Given the description of an element on the screen output the (x, y) to click on. 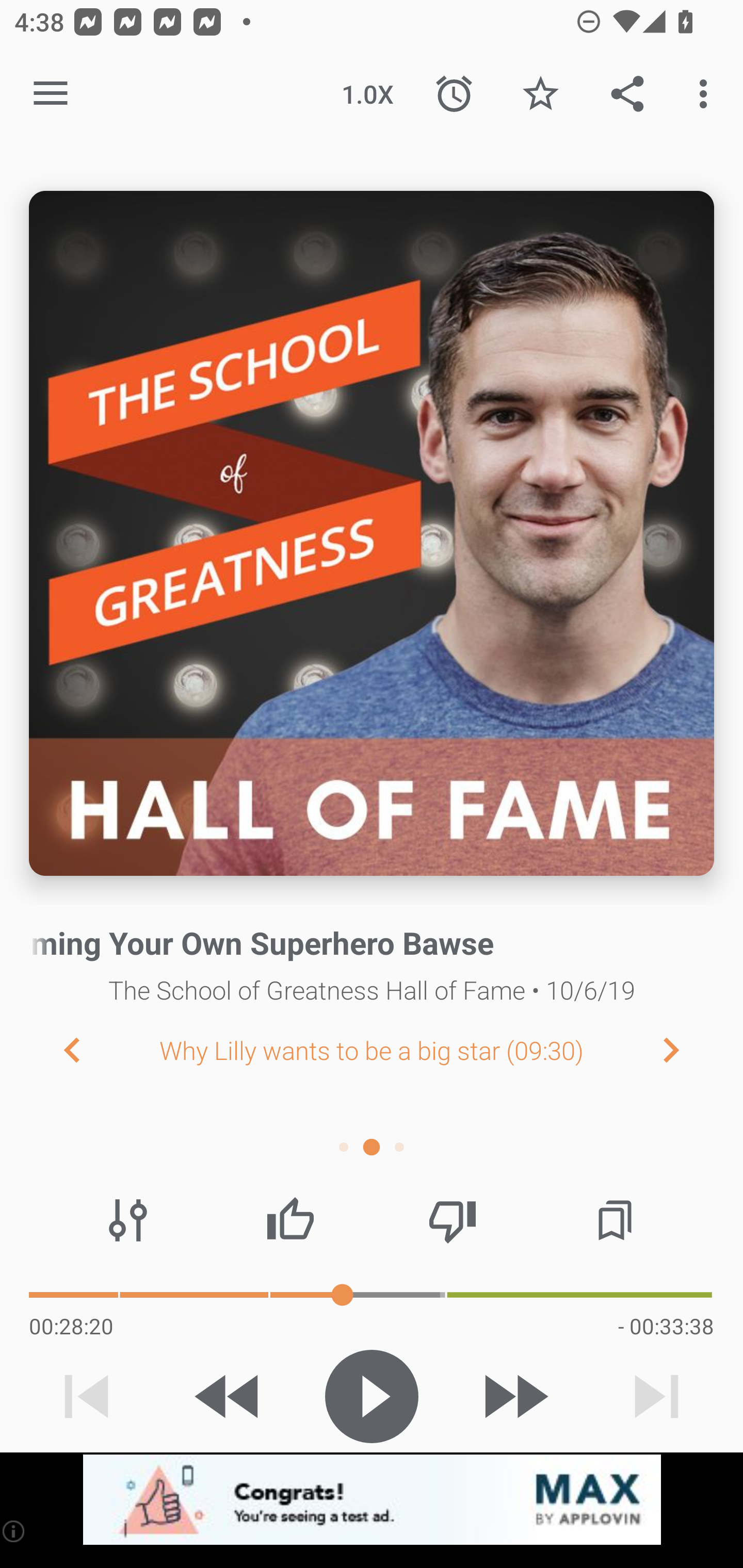
Open navigation sidebar (50, 93)
1.0X (366, 93)
Sleep Timer (453, 93)
Favorite (540, 93)
Share (626, 93)
More options (706, 93)
Episode description (371, 533)
Previous Chapter (56, 1049)
Next Chapter (686, 1049)
Why Lilly wants to be a big star (09:30) (371, 1050)
Audio effects (127, 1220)
Thumbs up (290, 1220)
Thumbs down (452, 1220)
Chapters / Bookmarks (614, 1220)
- 00:33:38 (666, 1325)
Previous track (86, 1395)
Skip 15s backward (228, 1395)
Play / Pause (371, 1395)
Skip 30s forward (513, 1395)
Next track (656, 1395)
app-monetization (371, 1500)
(i) (14, 1531)
